Given the description of an element on the screen output the (x, y) to click on. 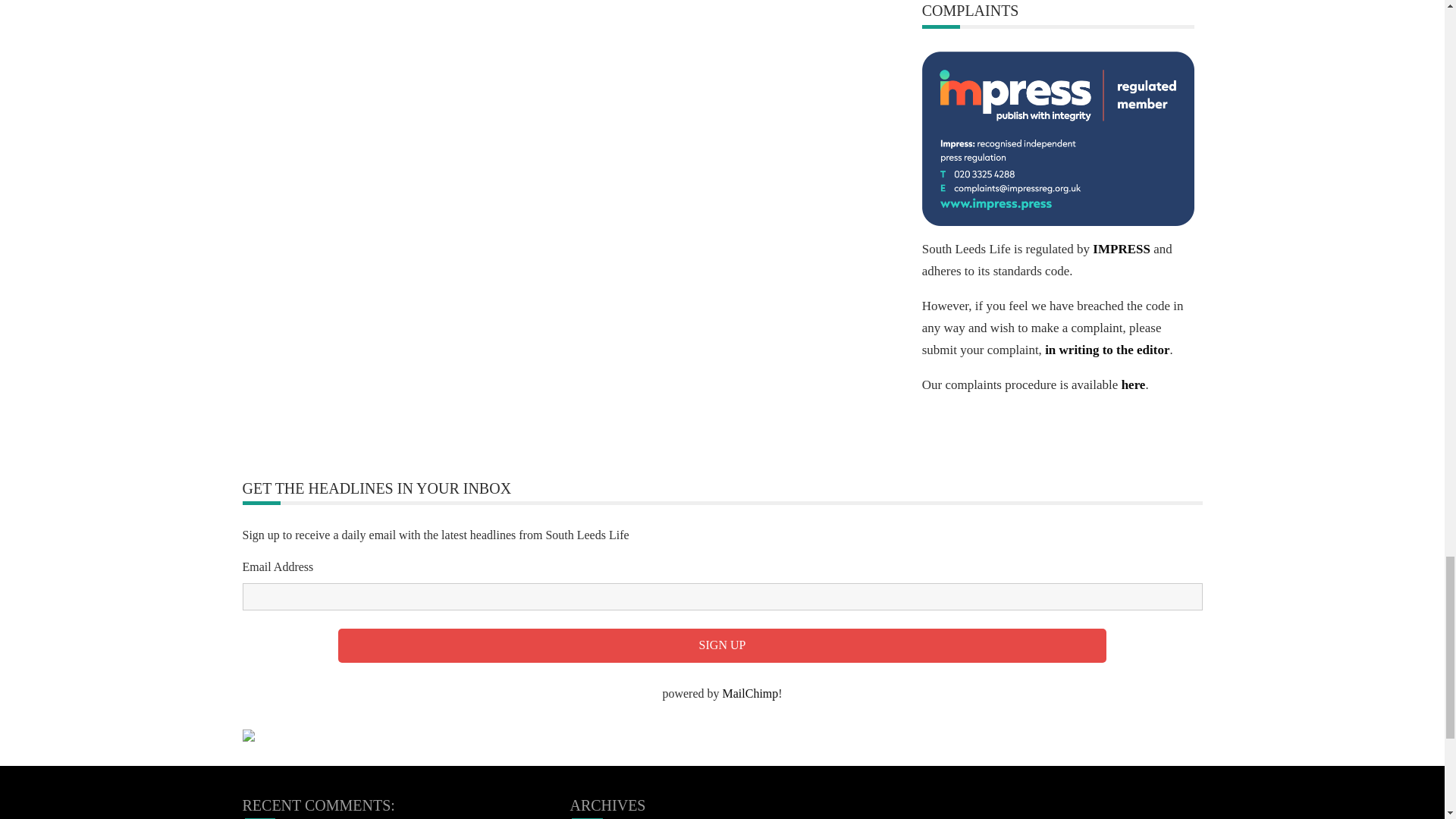
Sign up (721, 645)
